Given the description of an element on the screen output the (x, y) to click on. 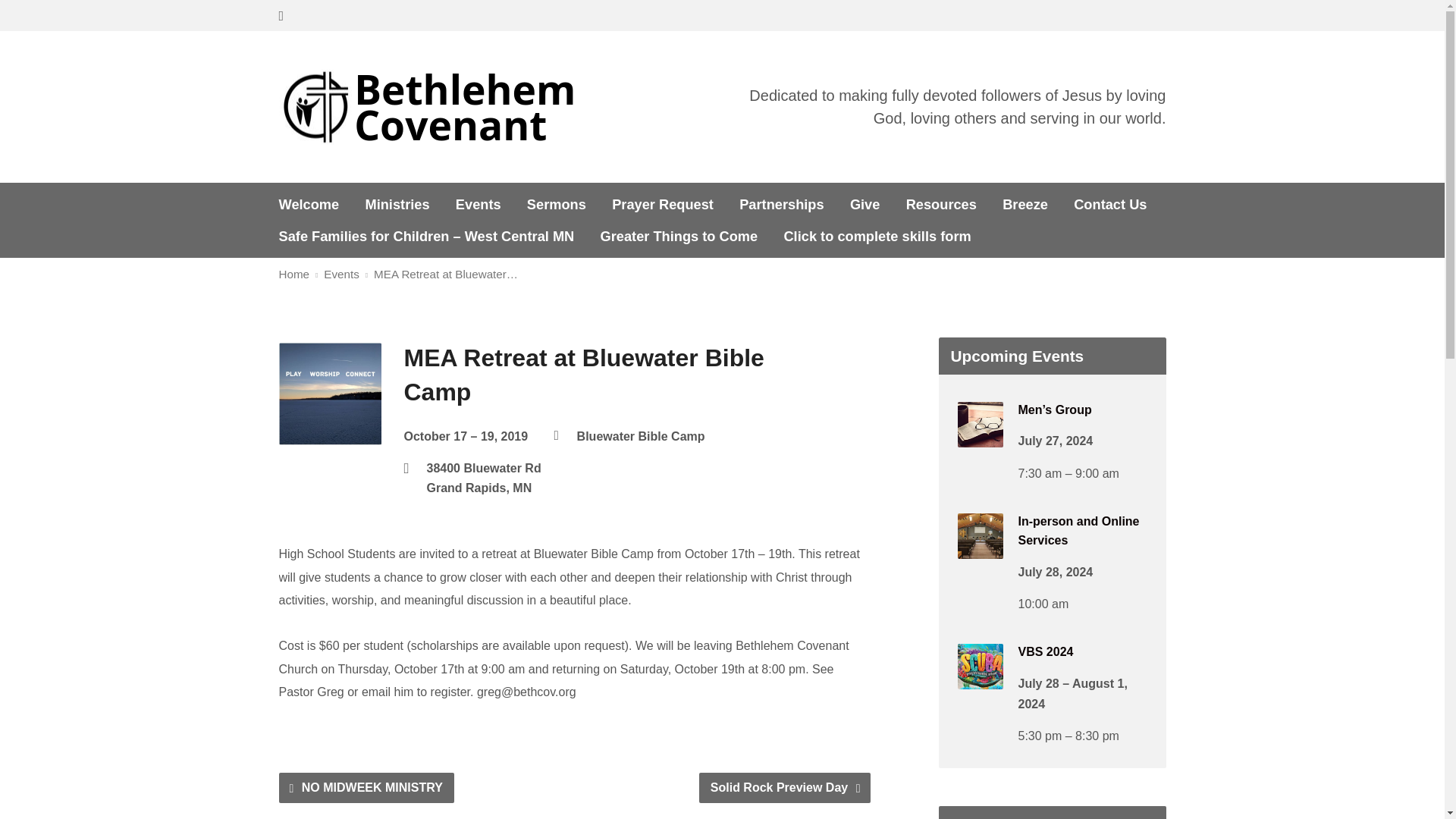
In-person and Online Services (1077, 531)
Ministries (397, 204)
VBS 2024 (979, 678)
Greater Things to Come (678, 236)
Give (865, 204)
In-person and Online Services (979, 548)
Events (477, 204)
Sermons (556, 204)
VBS 2024 (1045, 651)
Welcome (309, 204)
Prayer Request (662, 204)
Contact Us (1110, 204)
Partnerships (781, 204)
Breeze (1025, 204)
Click to complete skills form (877, 236)
